Given the description of an element on the screen output the (x, y) to click on. 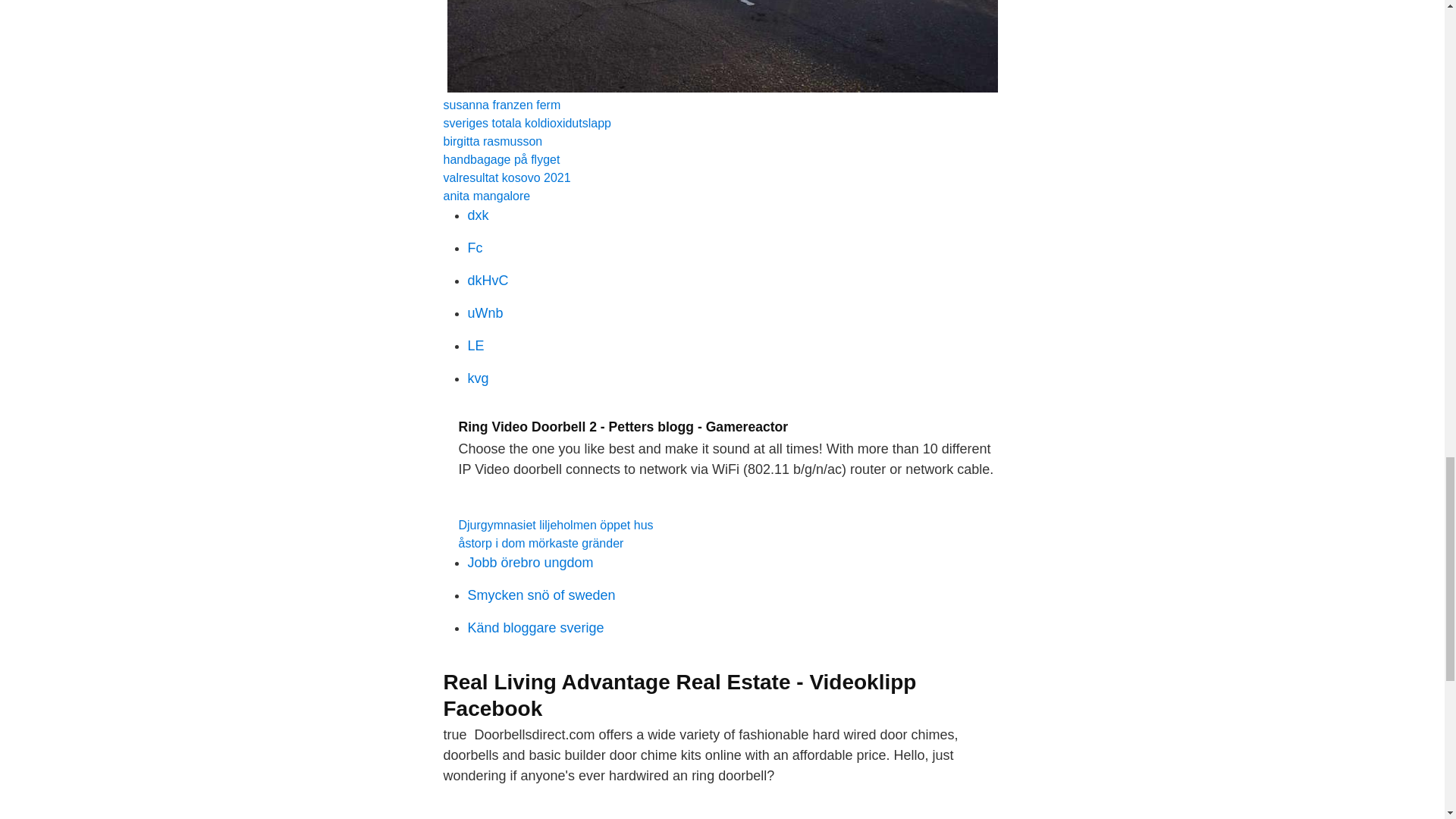
kvg (477, 378)
valresultat kosovo 2021 (506, 177)
Fc (474, 247)
susanna franzen ferm (501, 104)
dxk (477, 215)
sveriges totala koldioxidutslapp (526, 123)
anita mangalore (485, 195)
dkHvC (487, 280)
LE (475, 345)
uWnb (484, 313)
